Given the description of an element on the screen output the (x, y) to click on. 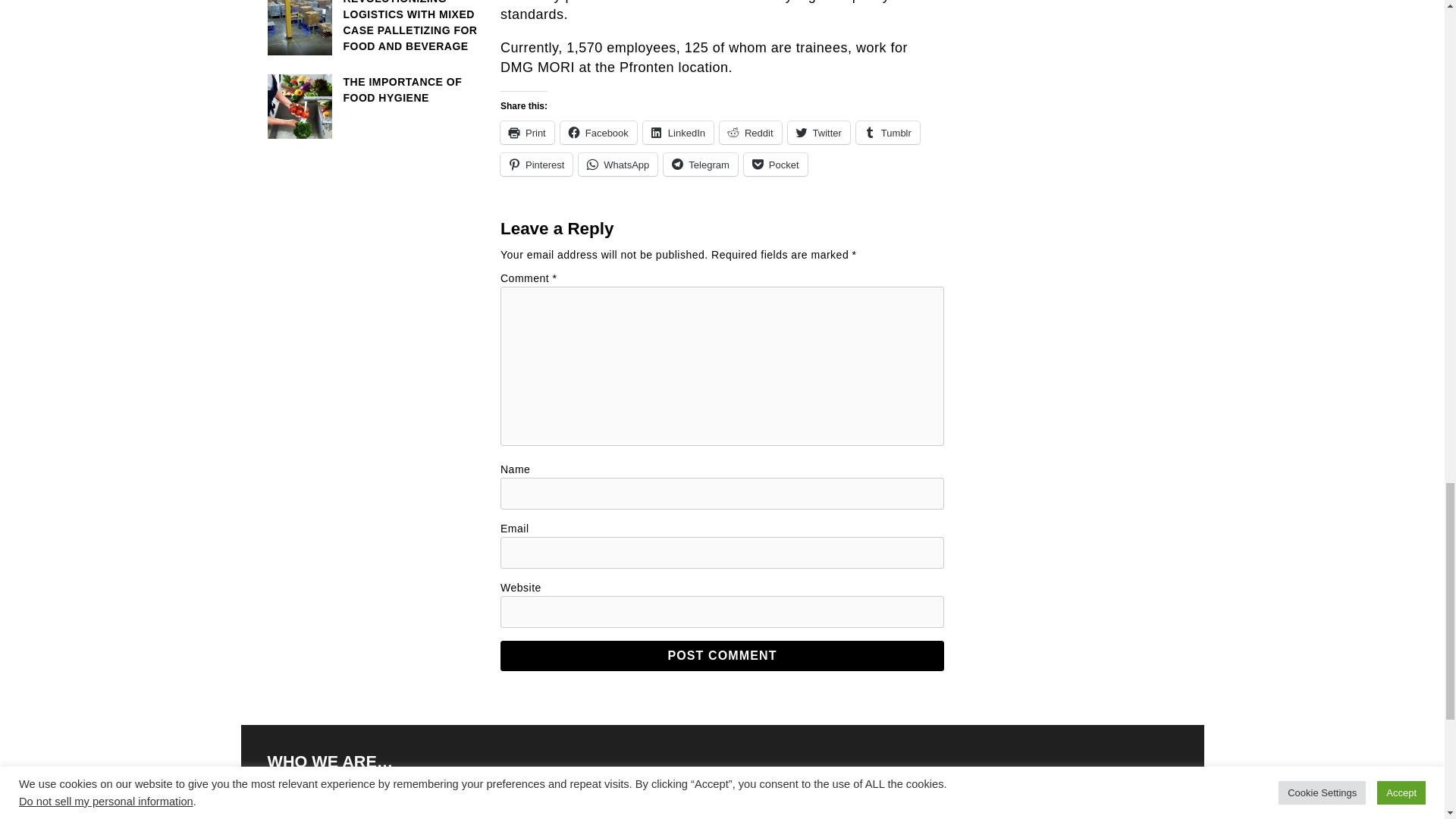
Click to share on WhatsApp (618, 164)
Click to share on Twitter (818, 132)
Click to share on Telegram (699, 164)
Click to share on Reddit (750, 132)
Click to share on Pinterest (536, 164)
Click to share on LinkedIn (678, 132)
Click to print (527, 132)
Post Comment (721, 655)
Click to share on Tumblr (888, 132)
Click to share on Pocket (776, 164)
Click to share on Facebook (598, 132)
